Given the description of an element on the screen output the (x, y) to click on. 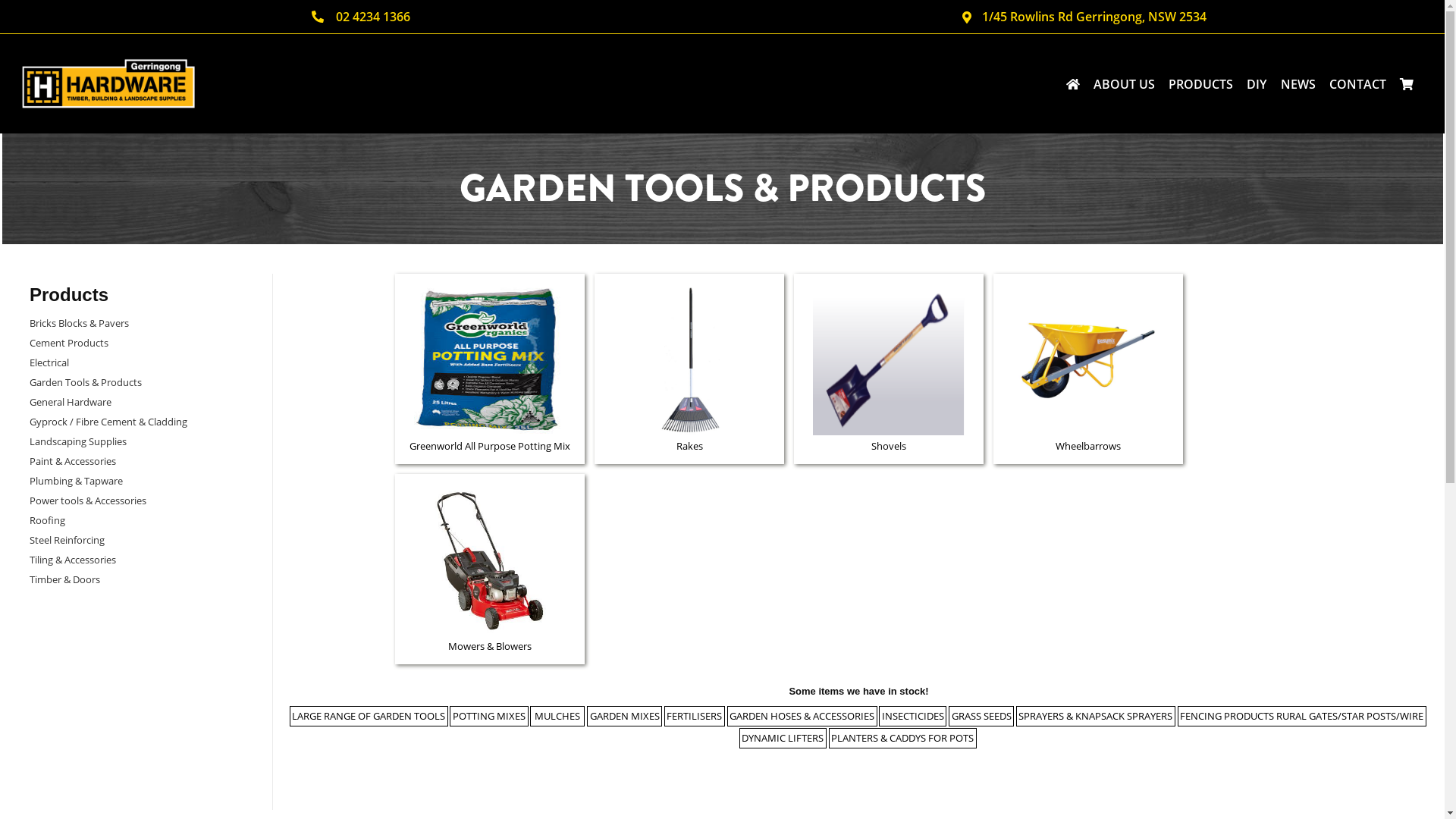
Timber & Doors Element type: text (64, 578)
Tiling & Accessories Element type: text (72, 558)
CONTACT Element type: text (1357, 82)
Cement Products Element type: text (68, 341)
Steel Reinforcing Element type: text (66, 539)
02 4234 1366 Element type: text (361, 16)
PRODUCTS Element type: text (1200, 82)
Gyprock / Fibre Cement & Cladding Element type: text (108, 420)
1/45 Rowlins Rd Gerringong, NSW 2534 Element type: text (1082, 16)
General Hardware Element type: text (70, 400)
ABOUT US Element type: text (1123, 82)
DIY Element type: text (1256, 82)
Plumbing & Tapware Element type: text (75, 479)
Electrical Element type: text (49, 361)
Paint & Accessories Element type: text (72, 460)
Bricks Blocks & Pavers Element type: text (78, 322)
NEWS Element type: text (1297, 82)
Roofing Element type: text (47, 519)
Garden Tools & Products Element type: text (85, 381)
Landscaping Supplies Element type: text (77, 440)
Power tools & Accessories Element type: text (87, 499)
